Given the description of an element on the screen output the (x, y) to click on. 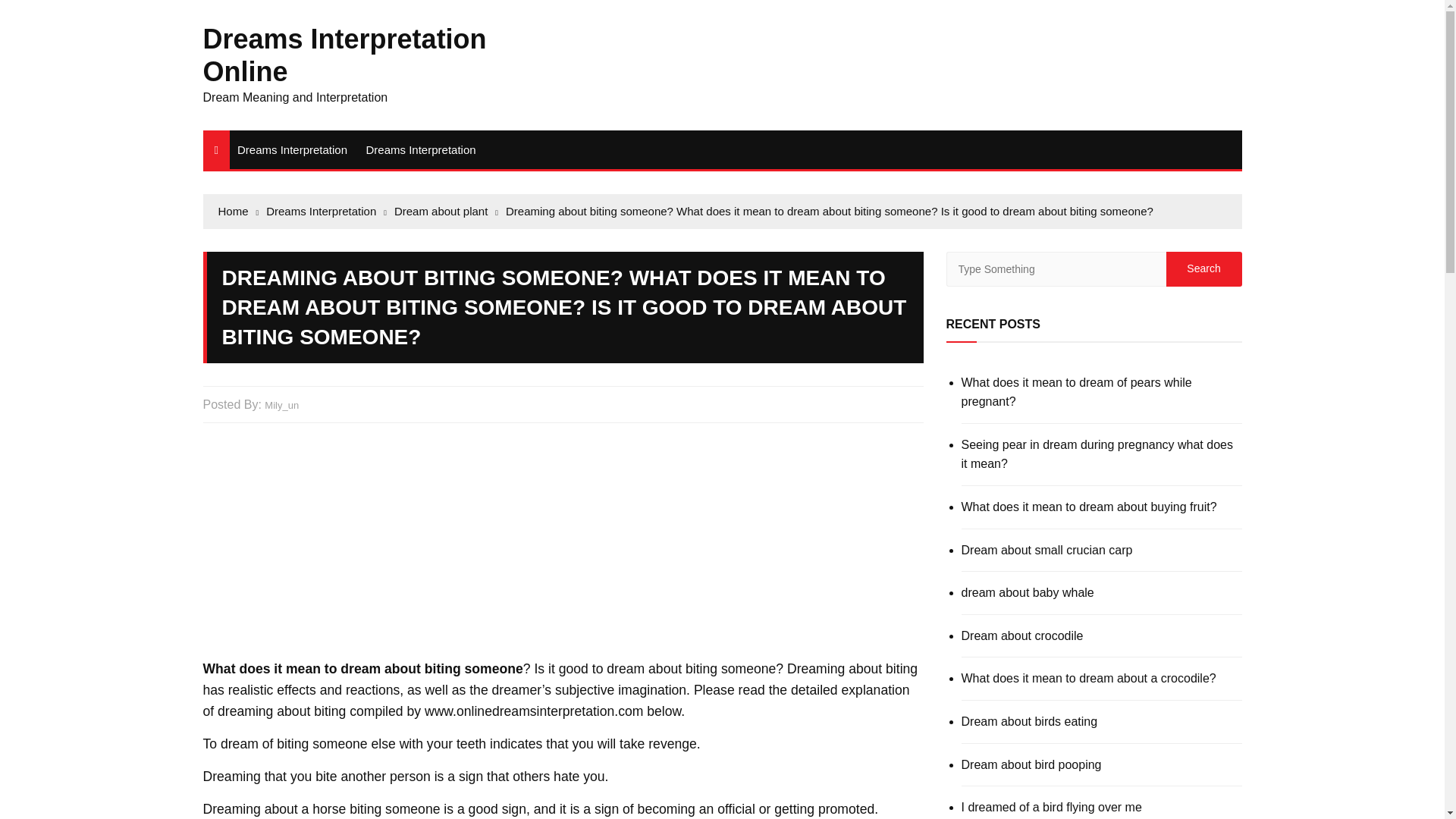
Dreams Interpretation (292, 149)
Search (1203, 268)
Dreams Interpretation (420, 149)
Dreams Interpretation Online (344, 54)
